Given the description of an element on the screen output the (x, y) to click on. 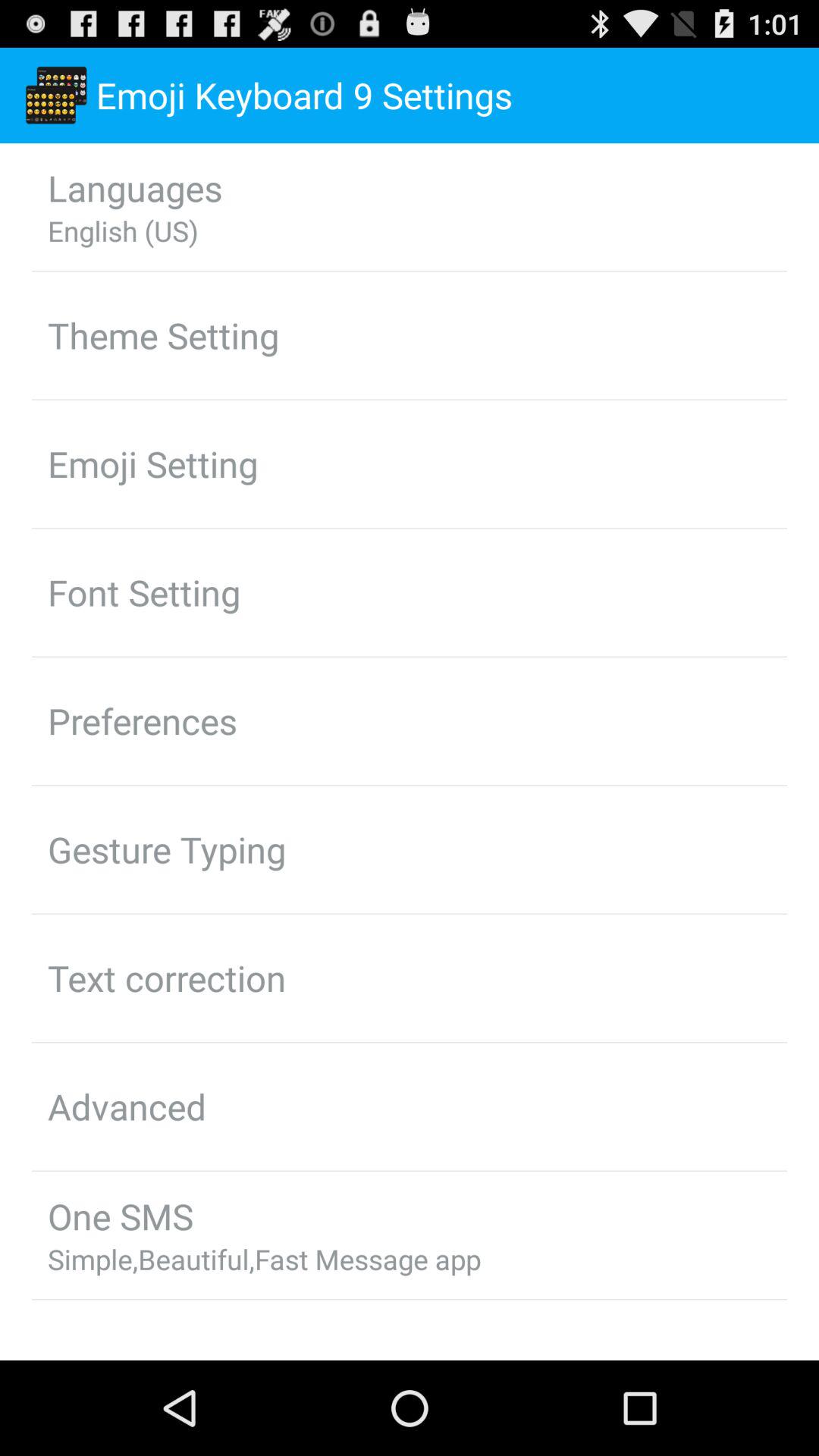
jump to the english (us) (122, 230)
